Given the description of an element on the screen output the (x, y) to click on. 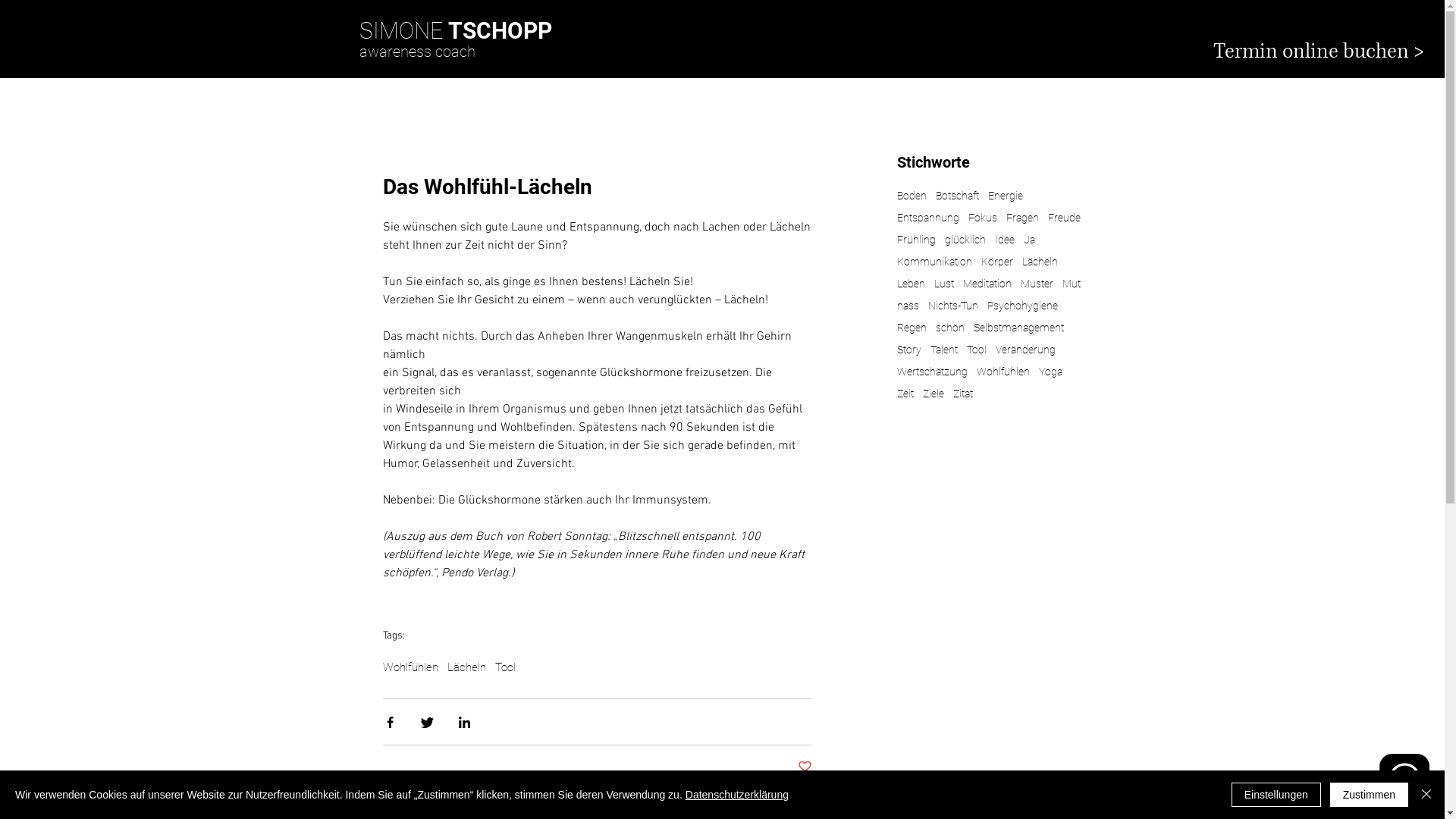
Botschaft Element type: text (957, 195)
Talent Element type: text (943, 349)
Energie Element type: text (1004, 195)
Einstellungen Element type: text (1276, 794)
Fokus Element type: text (981, 217)
Tool Element type: text (975, 349)
Psychohygiene Element type: text (1022, 305)
Zeit Element type: text (904, 393)
Lust Element type: text (943, 283)
nass Element type: text (907, 305)
Story Element type: text (908, 349)
Yoga Element type: text (1050, 371)
Mut Element type: text (1070, 283)
Boden Element type: text (910, 195)
Fragen Element type: text (1021, 217)
Regen Element type: text (910, 327)
Muster Element type: text (1036, 283)
awareness coach Element type: text (417, 51)
Entspannung Element type: text (927, 217)
Nichts-Tun Element type: text (953, 305)
Ja Element type: text (1029, 239)
 Termin online buchen >  Element type: text (1318, 51)
Selbstmanagement Element type: text (1018, 327)
Leben Element type: text (910, 283)
Idee Element type: text (1004, 239)
Kommunikation Element type: text (933, 261)
SIMONE TSCHOPP Element type: text (455, 30)
Ziele Element type: text (932, 393)
Meditation Element type: text (987, 283)
Zustimmen Element type: text (1369, 794)
Tool Element type: text (504, 667)
Zitat Element type: text (962, 393)
Freude Element type: text (1064, 217)
